Given the description of an element on the screen output the (x, y) to click on. 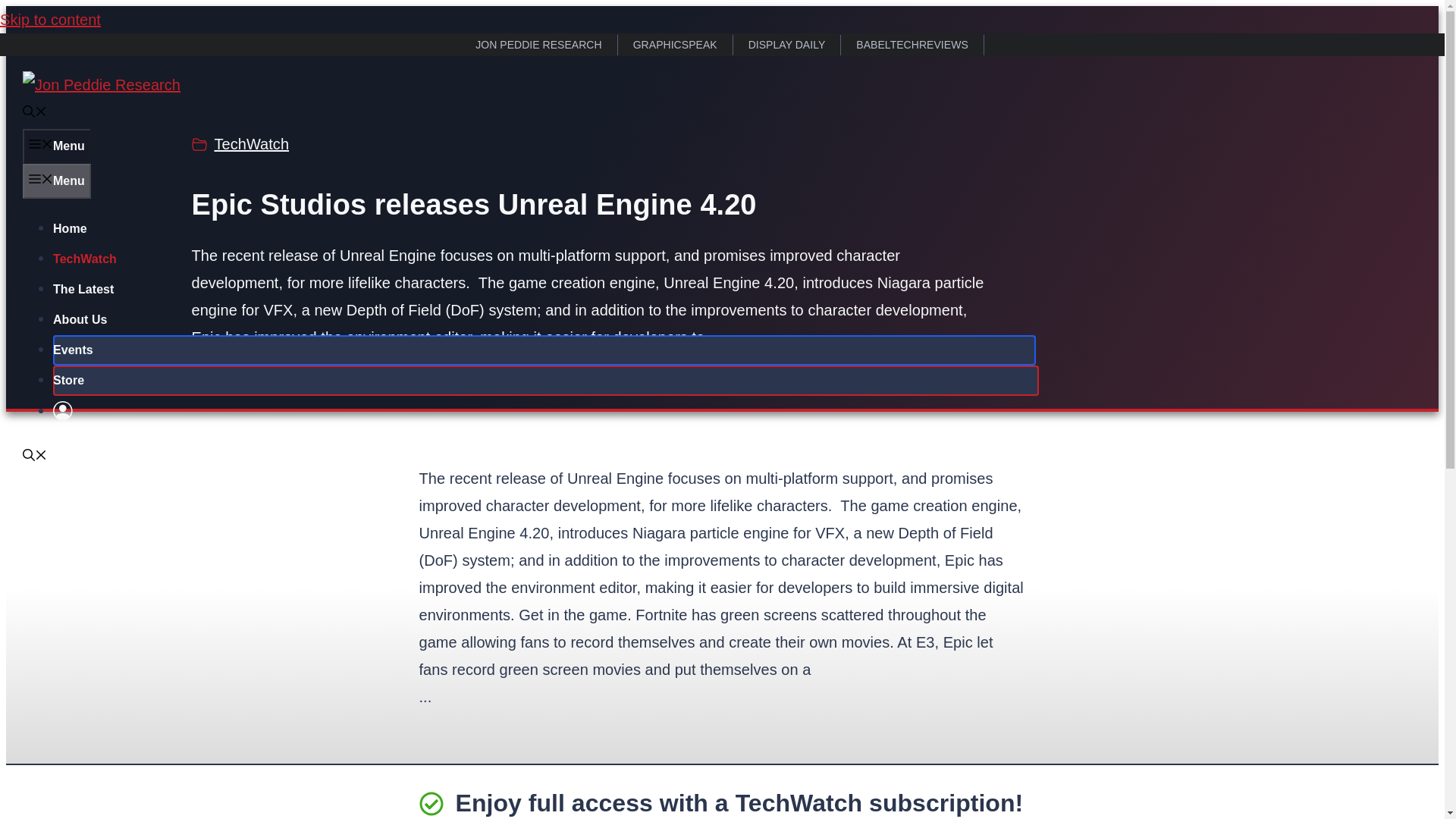
Skip to content (50, 19)
BABELTECHREVIEWS (912, 45)
Account (62, 410)
Store (68, 379)
Home (69, 228)
Skip to content (50, 19)
Events (72, 349)
About Us (79, 318)
JON PEDDIE RESEARCH (538, 45)
DISPLAY DAILY (787, 45)
Menu (56, 181)
Menu (56, 145)
GRAPHICSPEAK (675, 45)
TechWatch (84, 258)
The Latest (82, 288)
